Given the description of an element on the screen output the (x, y) to click on. 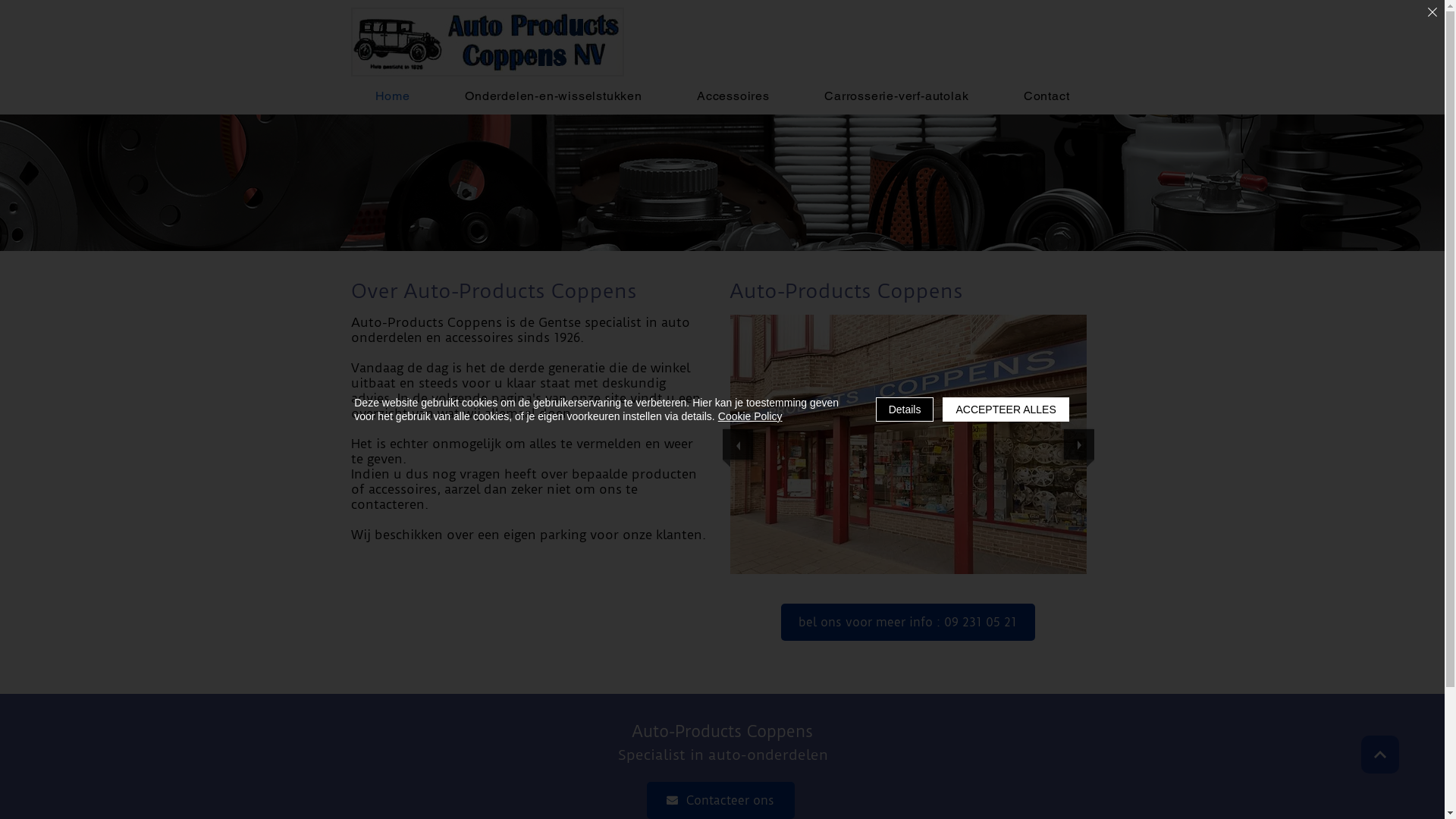
Cookie Policy Element type: text (750, 416)
Accessoires Element type: text (732, 95)
Onderdelen-en-wisselstukken Element type: text (553, 95)
Carrosserie-verf-autolak Element type: text (896, 95)
bel ons voor meer info : 09 231 05 21 Element type: text (908, 621)
Details Element type: text (904, 409)
ACCEPTEER ALLES Element type: text (1005, 409)
Home Element type: text (392, 95)
Contact Element type: text (1046, 95)
